Given the description of an element on the screen output the (x, y) to click on. 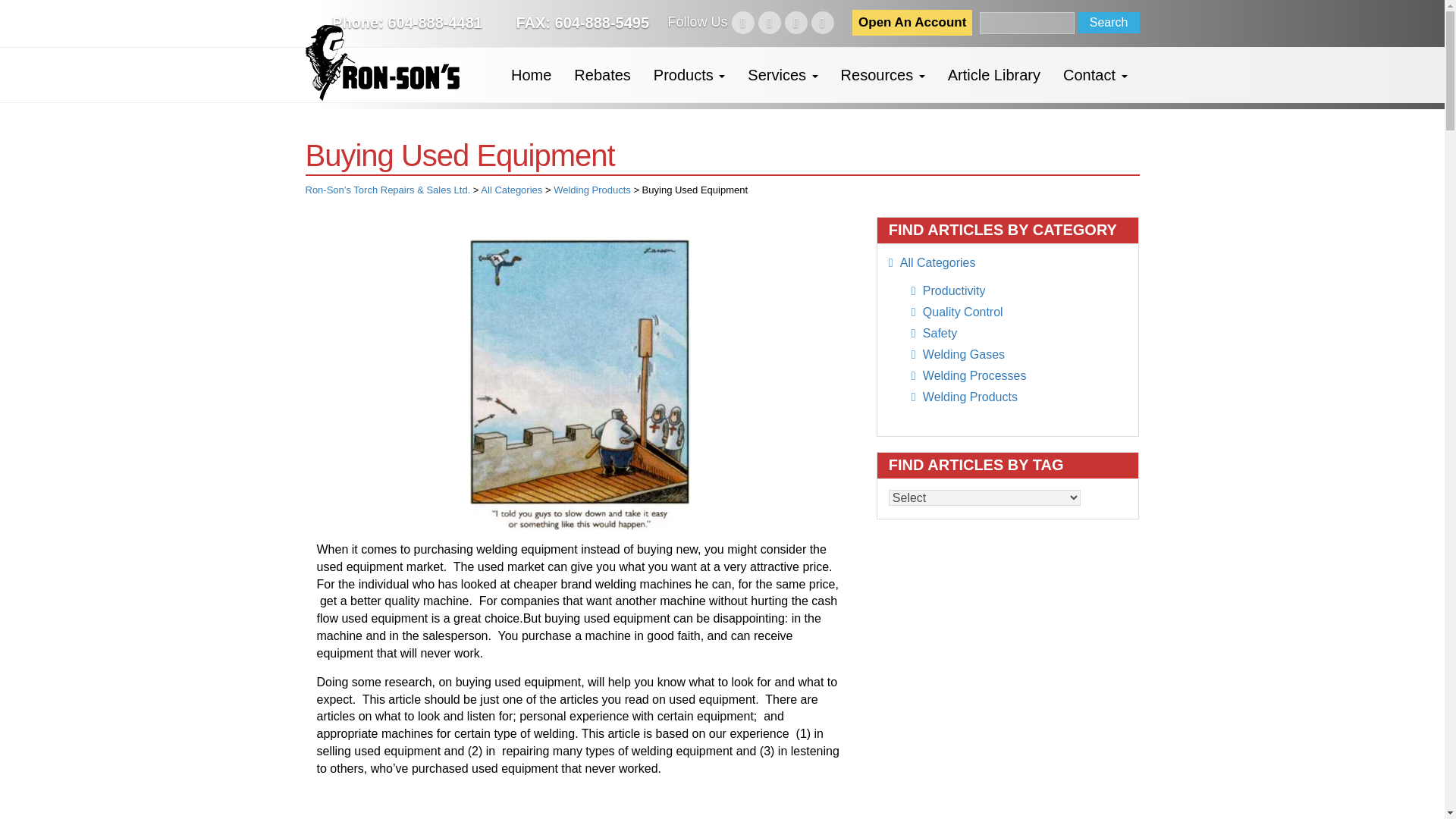
Resources (882, 74)
Home (530, 74)
Open An Account (911, 22)
Products (689, 74)
Search (1109, 22)
Rebates (602, 74)
604-888-4481 (434, 22)
Rebates (602, 74)
Products (689, 74)
Search (1109, 22)
Home (530, 74)
Services (782, 74)
